Given the description of an element on the screen output the (x, y) to click on. 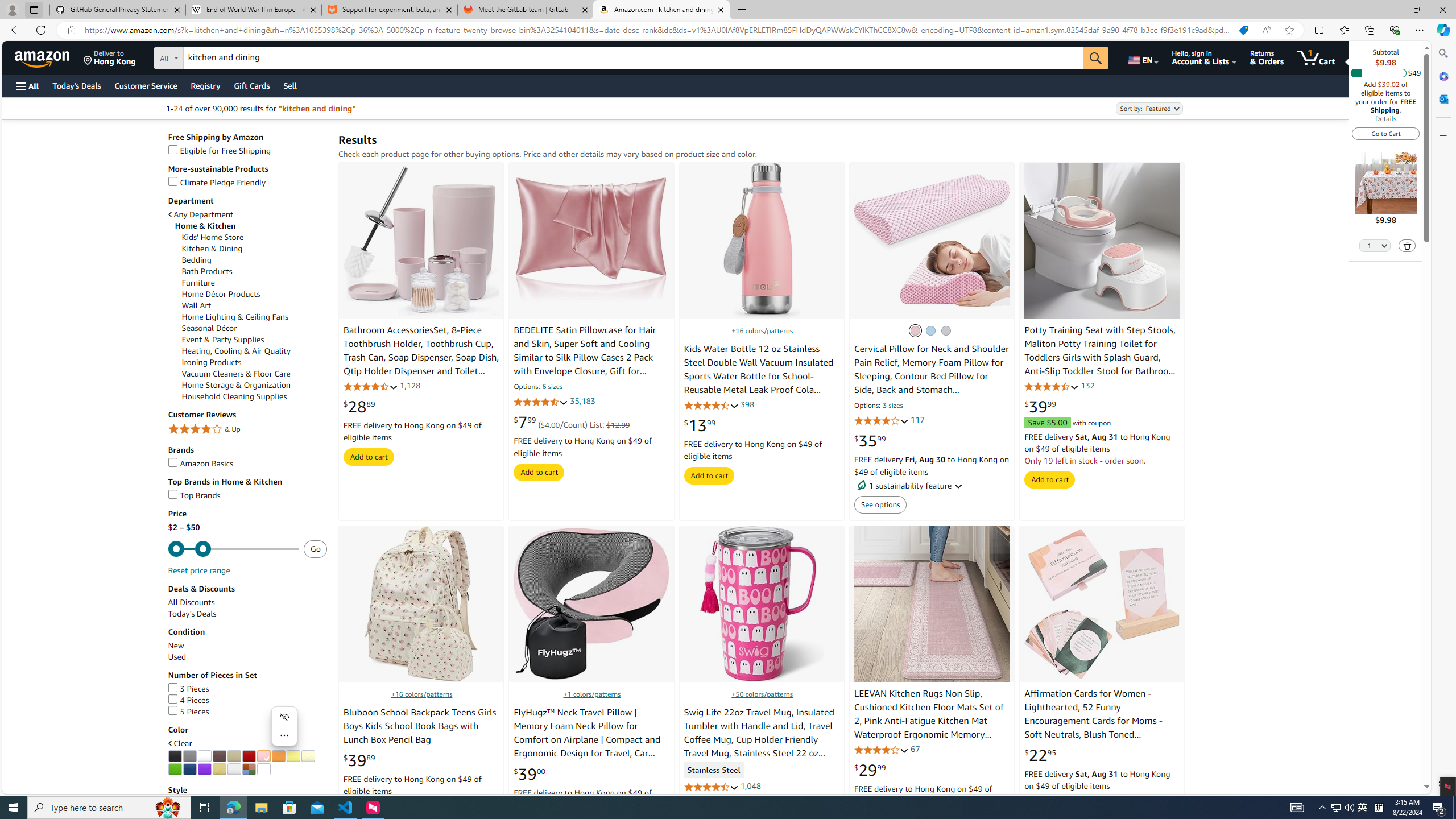
White (204, 756)
Returns & Orders (1266, 57)
Furniture (198, 282)
Clear (244, 743)
Purple (204, 769)
See options (879, 504)
